Given the description of an element on the screen output the (x, y) to click on. 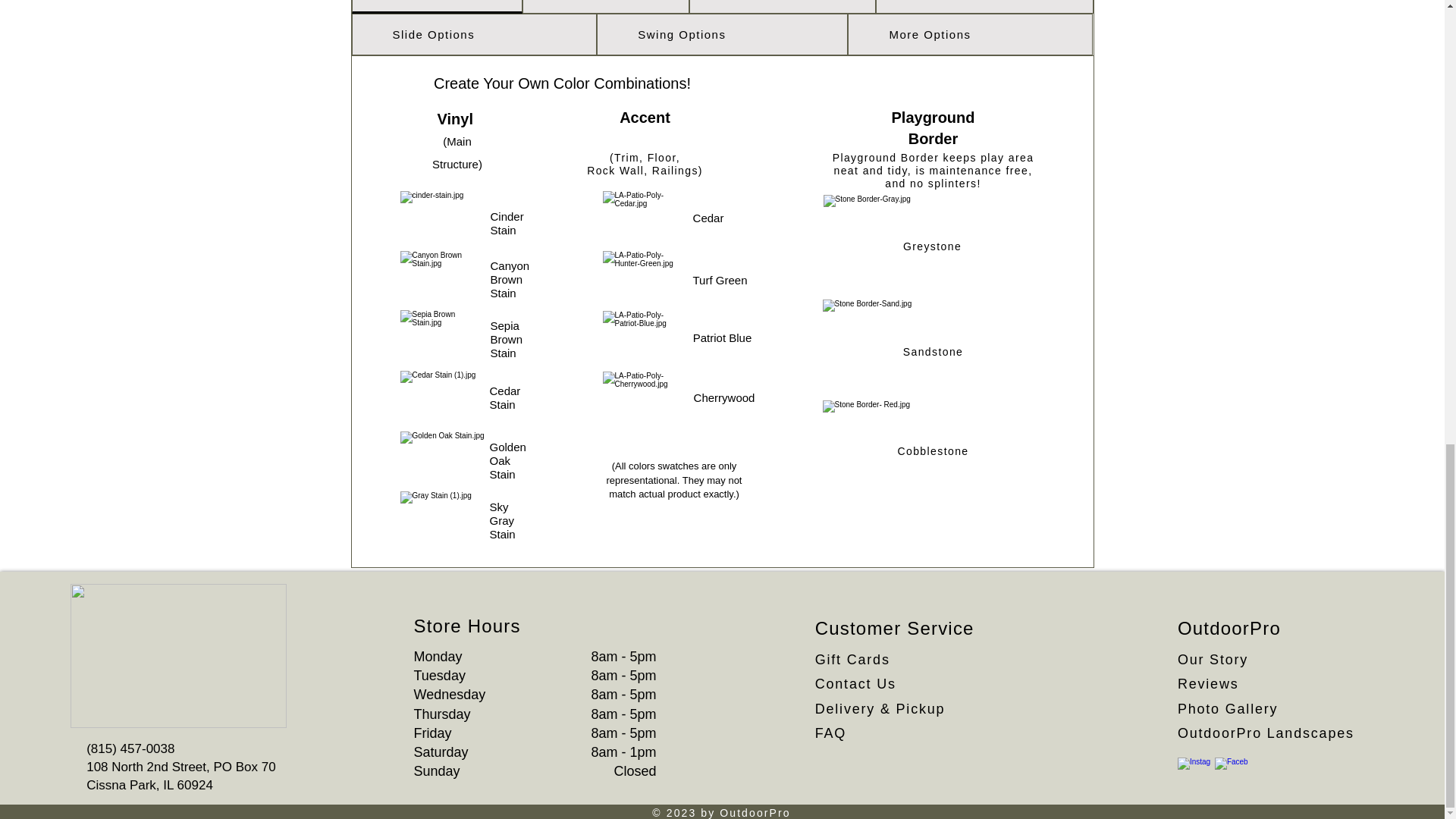
Reviews (1208, 683)
Final Logo.png (177, 655)
Gift Cards  (855, 659)
Contact Us  (858, 683)
Photo Gallery (1227, 708)
Our Story (1212, 659)
OutdoorPro Landscapes (1265, 733)
FAQ (830, 733)
